Given the description of an element on the screen output the (x, y) to click on. 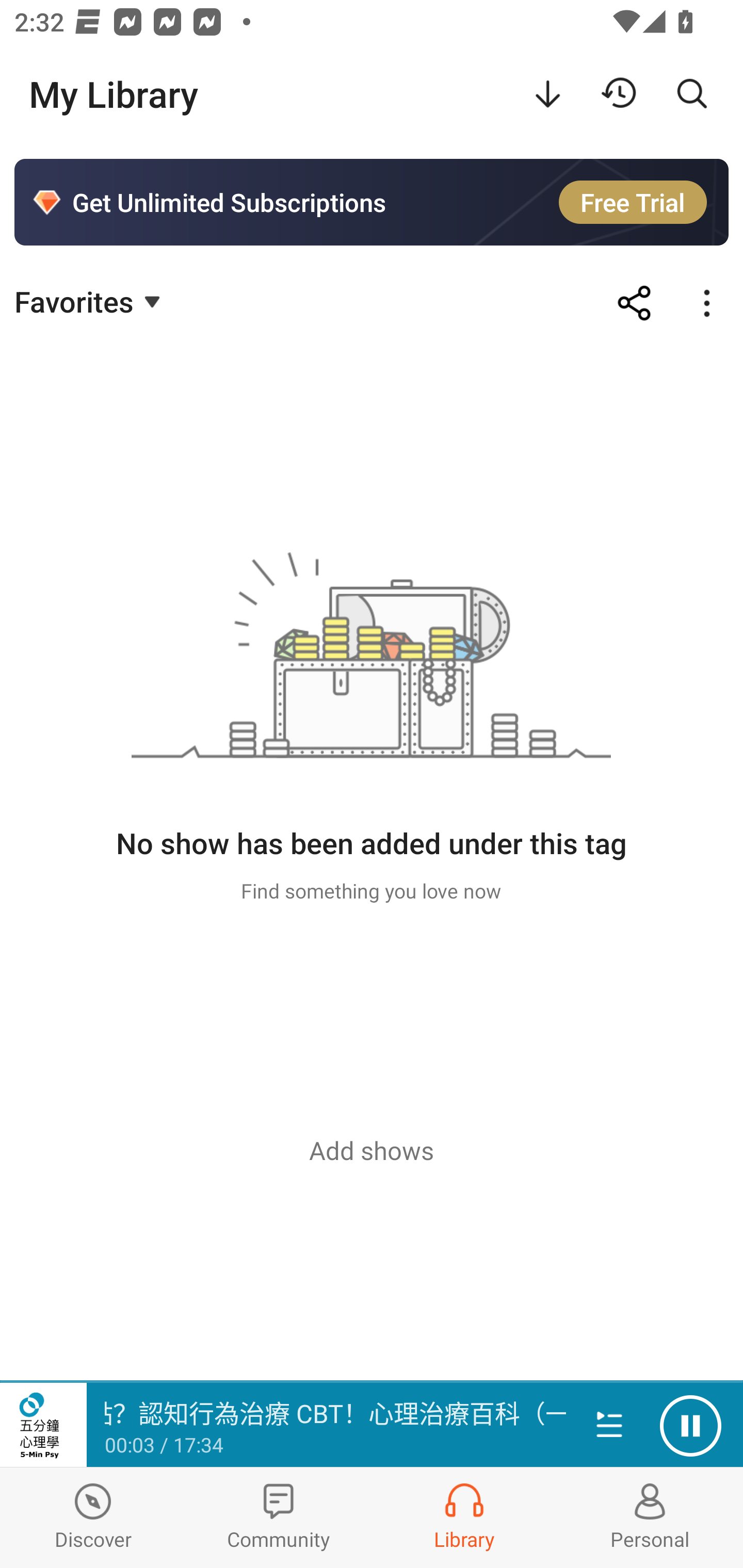
Get Unlimited Subscriptions Free Trial (371, 202)
Free Trial (632, 202)
Favorites (90, 300)
Add shows (371, 1150)
Pause (690, 1425)
Discover (92, 1517)
Community (278, 1517)
Library (464, 1517)
Profiles and Settings Personal (650, 1517)
